Given the description of an element on the screen output the (x, y) to click on. 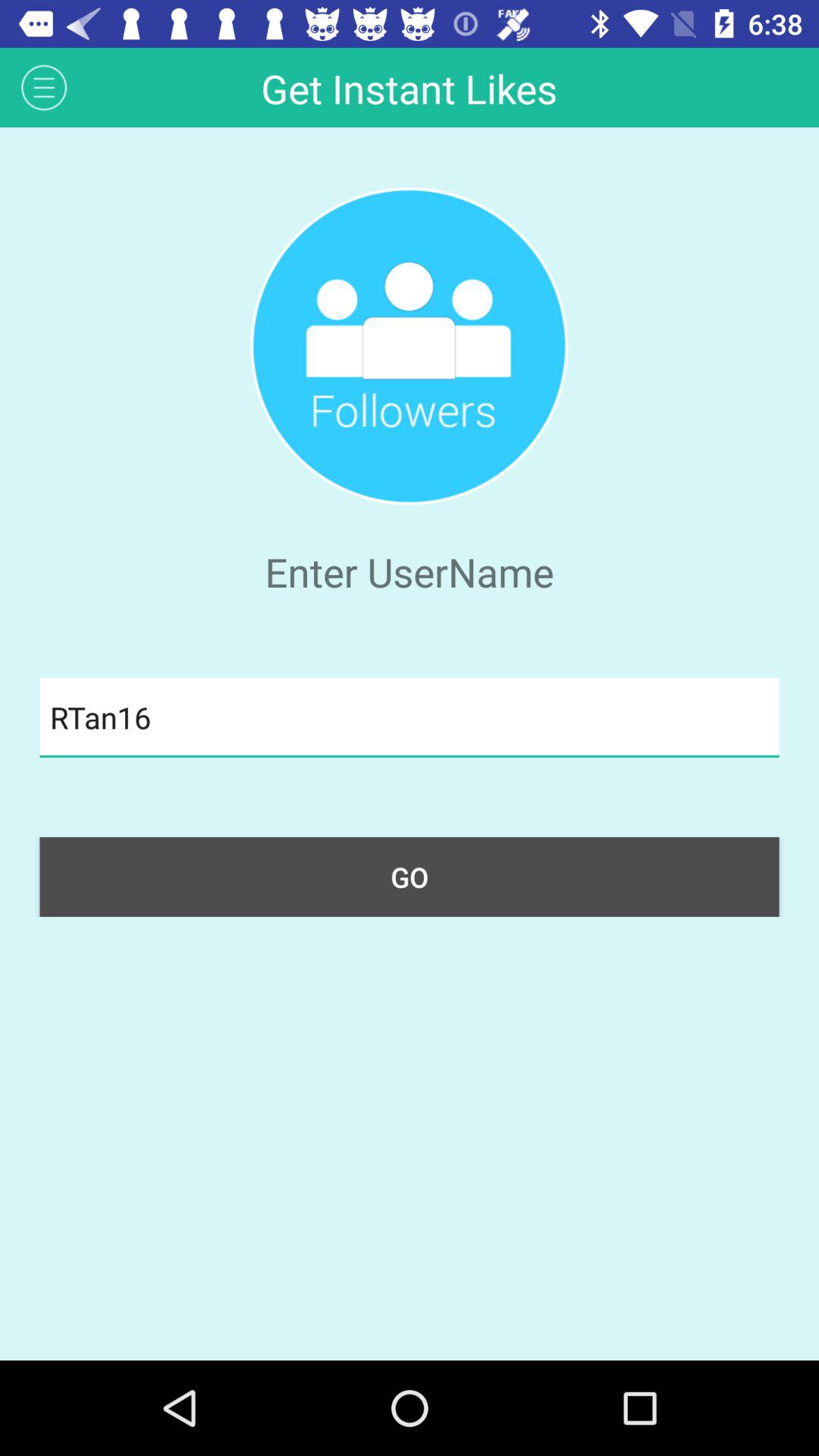
scroll to go item (409, 876)
